Given the description of an element on the screen output the (x, y) to click on. 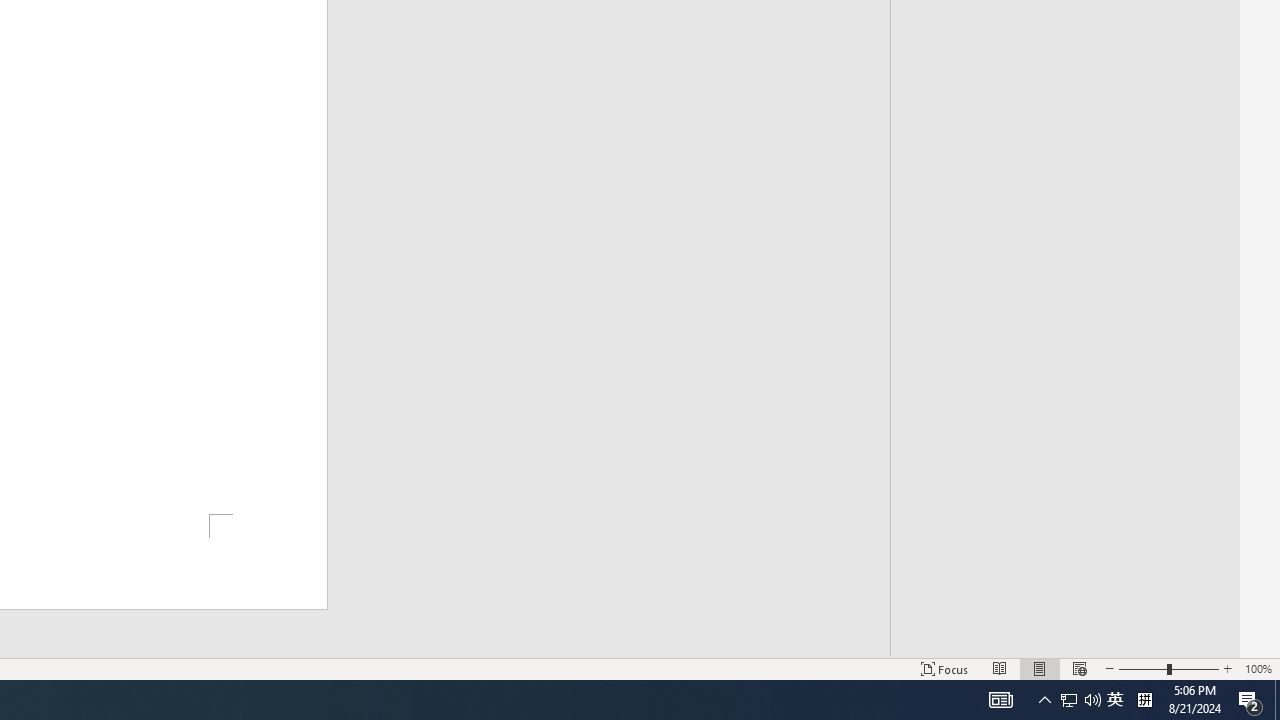
Zoom 100% (1258, 668)
